Given the description of an element on the screen output the (x, y) to click on. 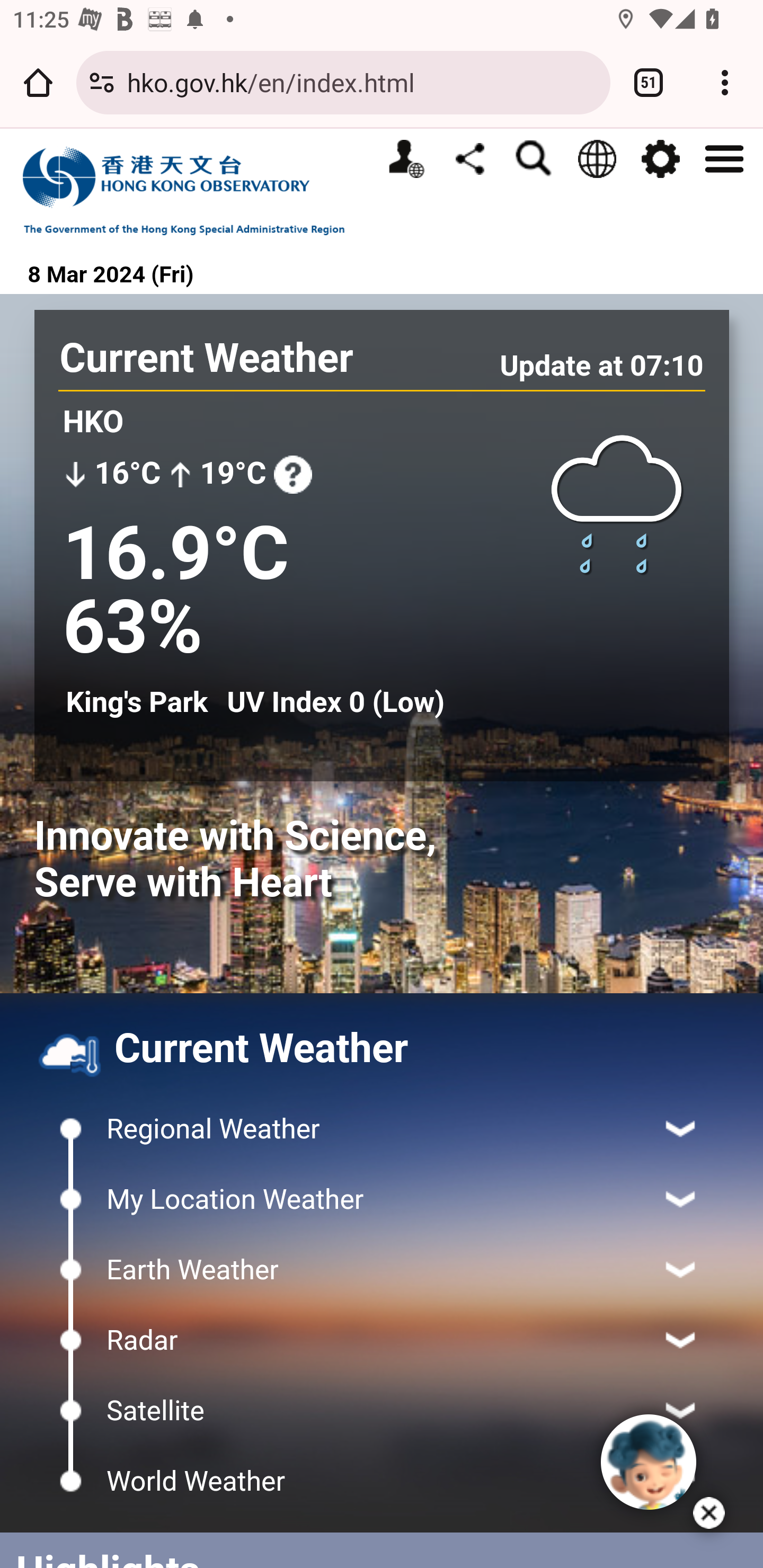
Open the home page (38, 82)
Connection is secure (101, 82)
Switch or close tabs (648, 82)
Customize and control Google Chrome (724, 82)
hko.gov.hk/en/index.html (362, 82)
Hong Kong Observatory (192, 190)
Personalized Website Personalized Website (405, 159)
Search Search (533, 159)
Language Language (596, 159)
Setting Setting (659, 159)
Share Share (469, 158)
Menu Menu (723, 157)
Current Weather (206, 357)
Light Rain (617, 503)
Help (292, 473)
UV Index 0 (Low) (334, 702)
Regional Weather (381, 1128)
My Location Weather (381, 1199)
Earth Weather (381, 1269)
Radar (381, 1340)
Satellite (381, 1410)
Chat with Dr. Tin (648, 1461)
World Weather (381, 1480)
Close (708, 1512)
